Given the description of an element on the screen output the (x, y) to click on. 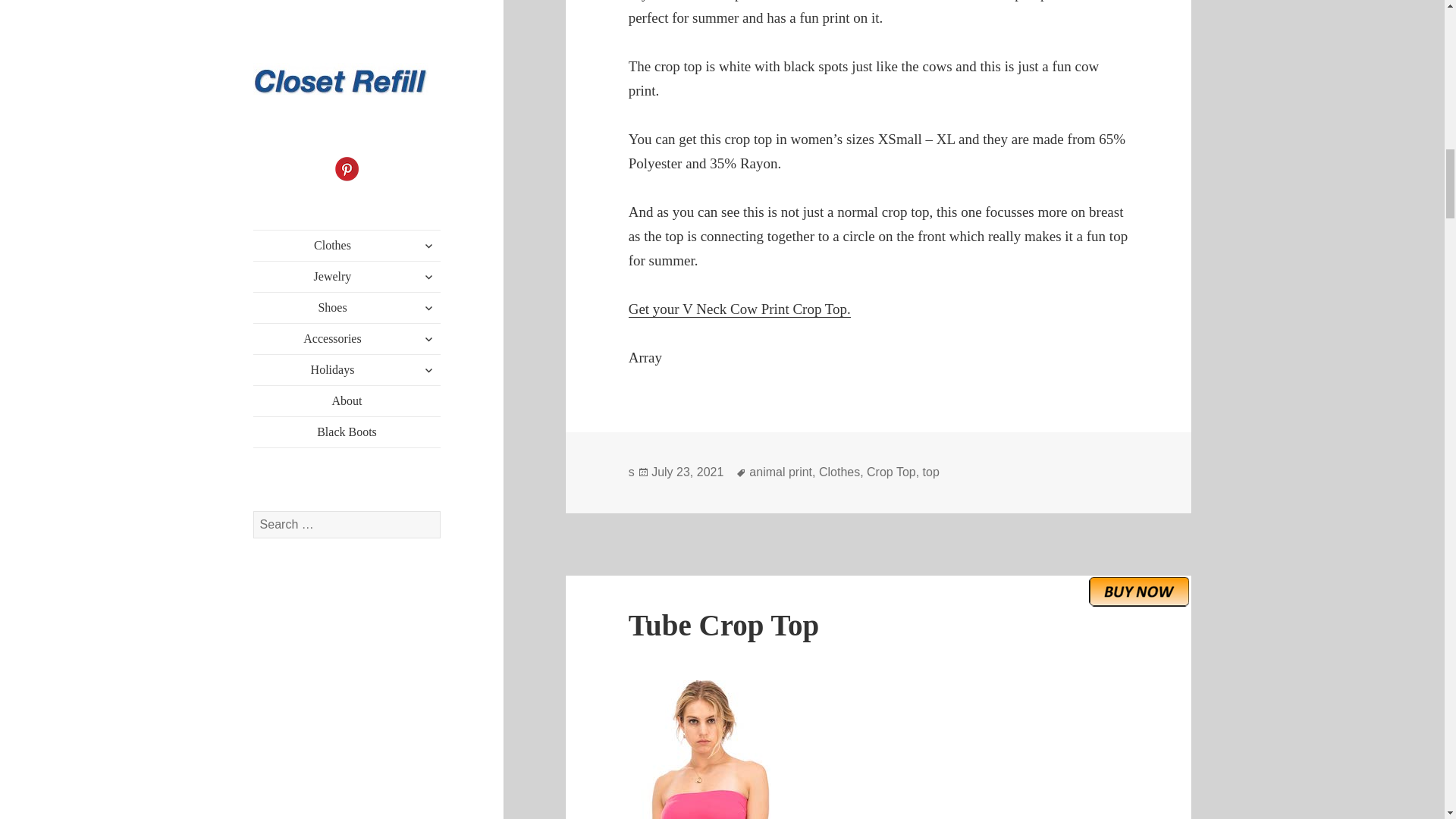
buy Tube Crop Top (1139, 591)
